Given the description of an element on the screen output the (x, y) to click on. 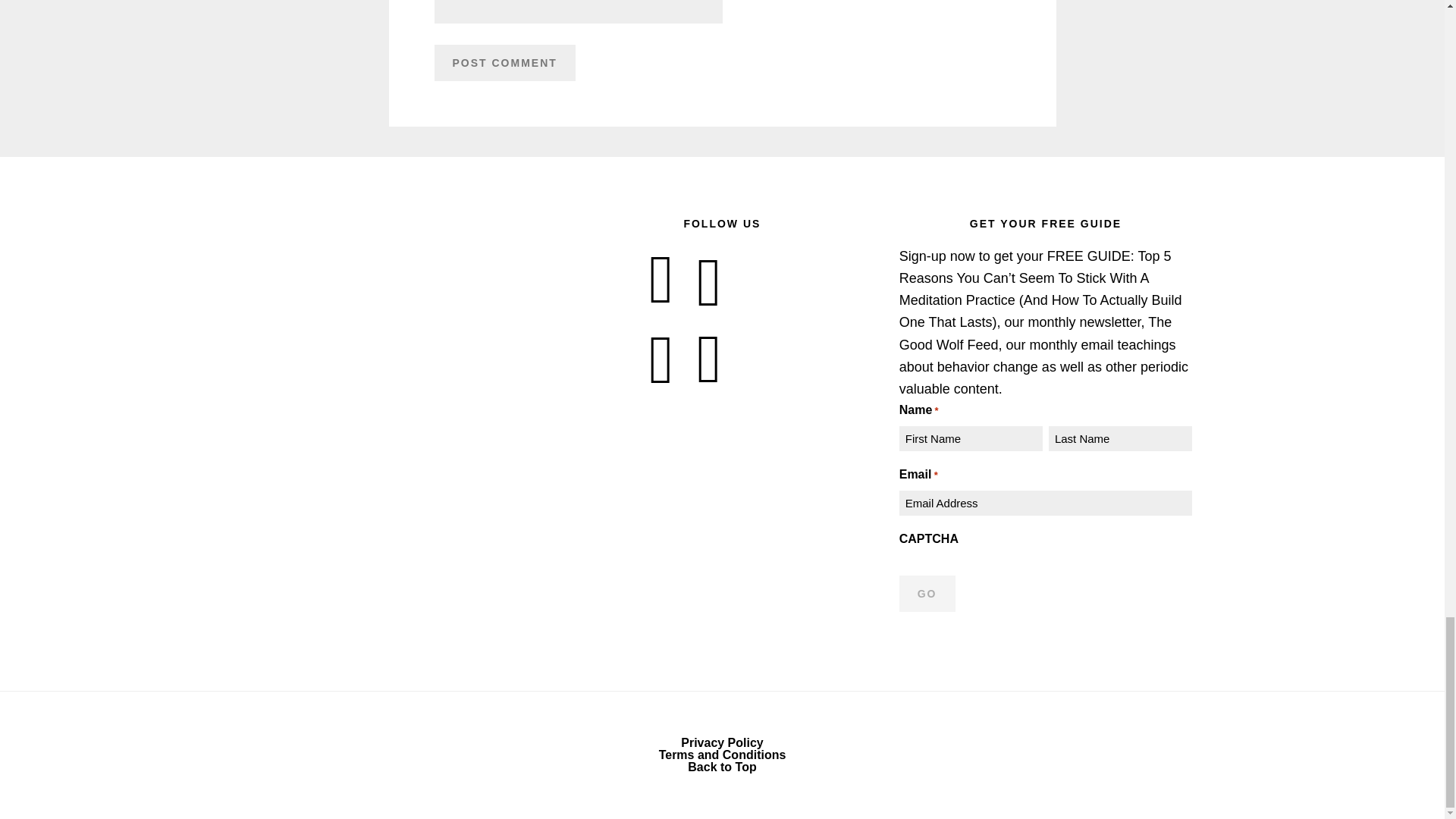
GO (927, 593)
Post Comment (504, 63)
